Given the description of an element on the screen output the (x, y) to click on. 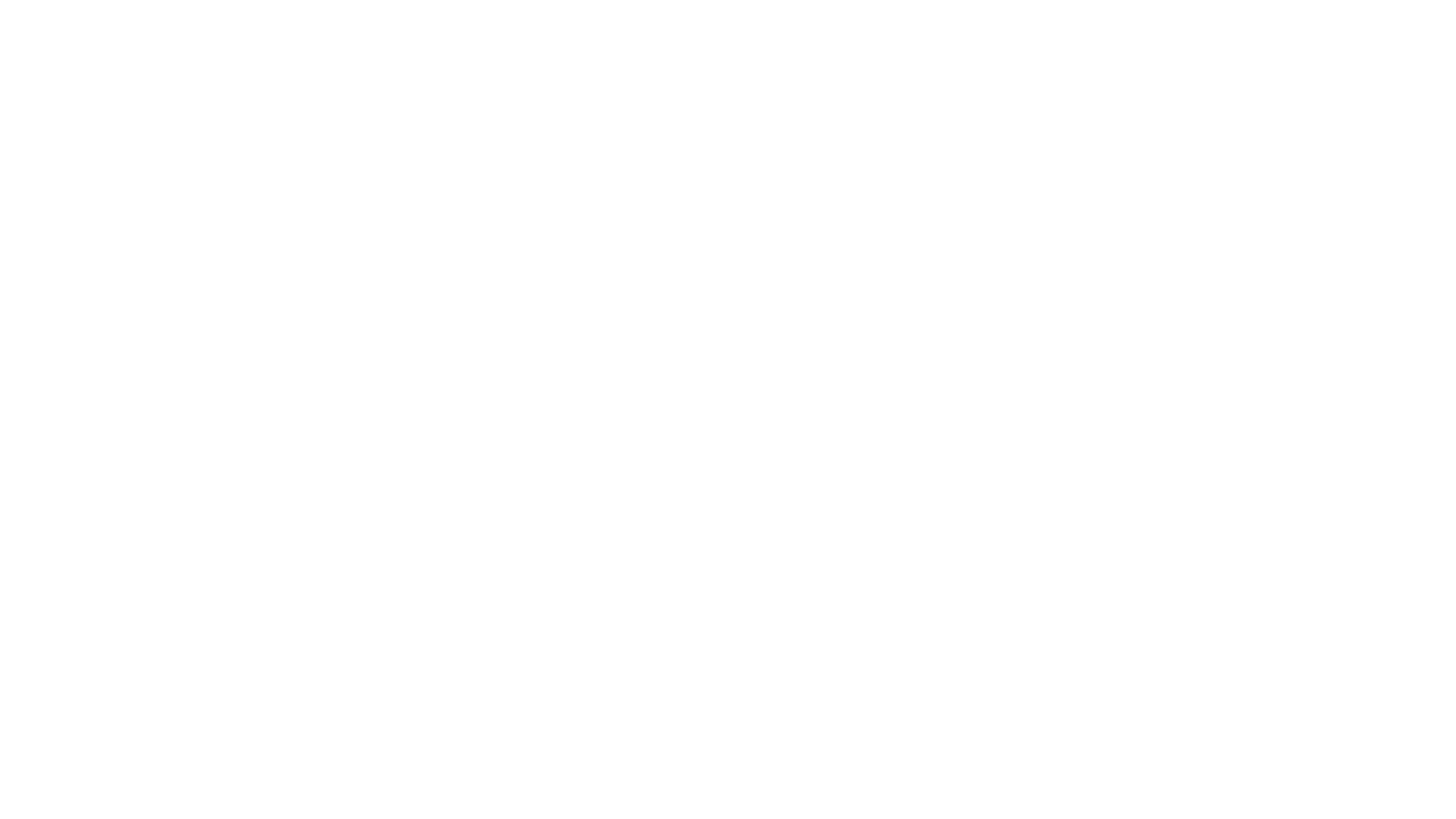
Cloudflare Element type: text (798, 799)
